Given the description of an element on the screen output the (x, y) to click on. 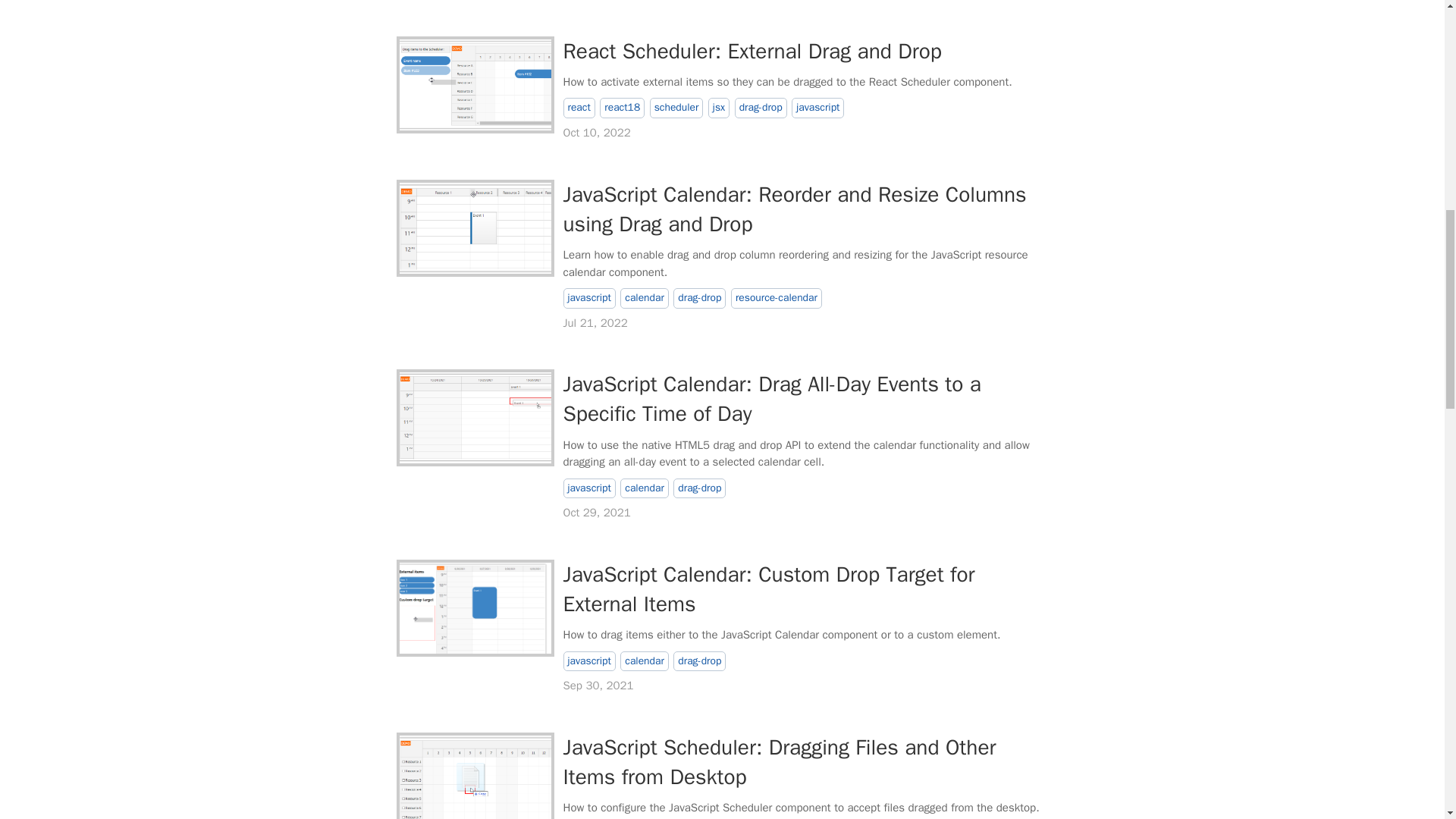
jsx (718, 107)
react18 (622, 107)
react (578, 107)
javascript (818, 107)
React Scheduler: External Drag and Drop (474, 84)
JavaScript Calendar: Custom Drop Target for External Items (474, 607)
scheduler (676, 107)
drag-drop (761, 107)
React Scheduler: External Drag and Drop (751, 50)
